Given the description of an element on the screen output the (x, y) to click on. 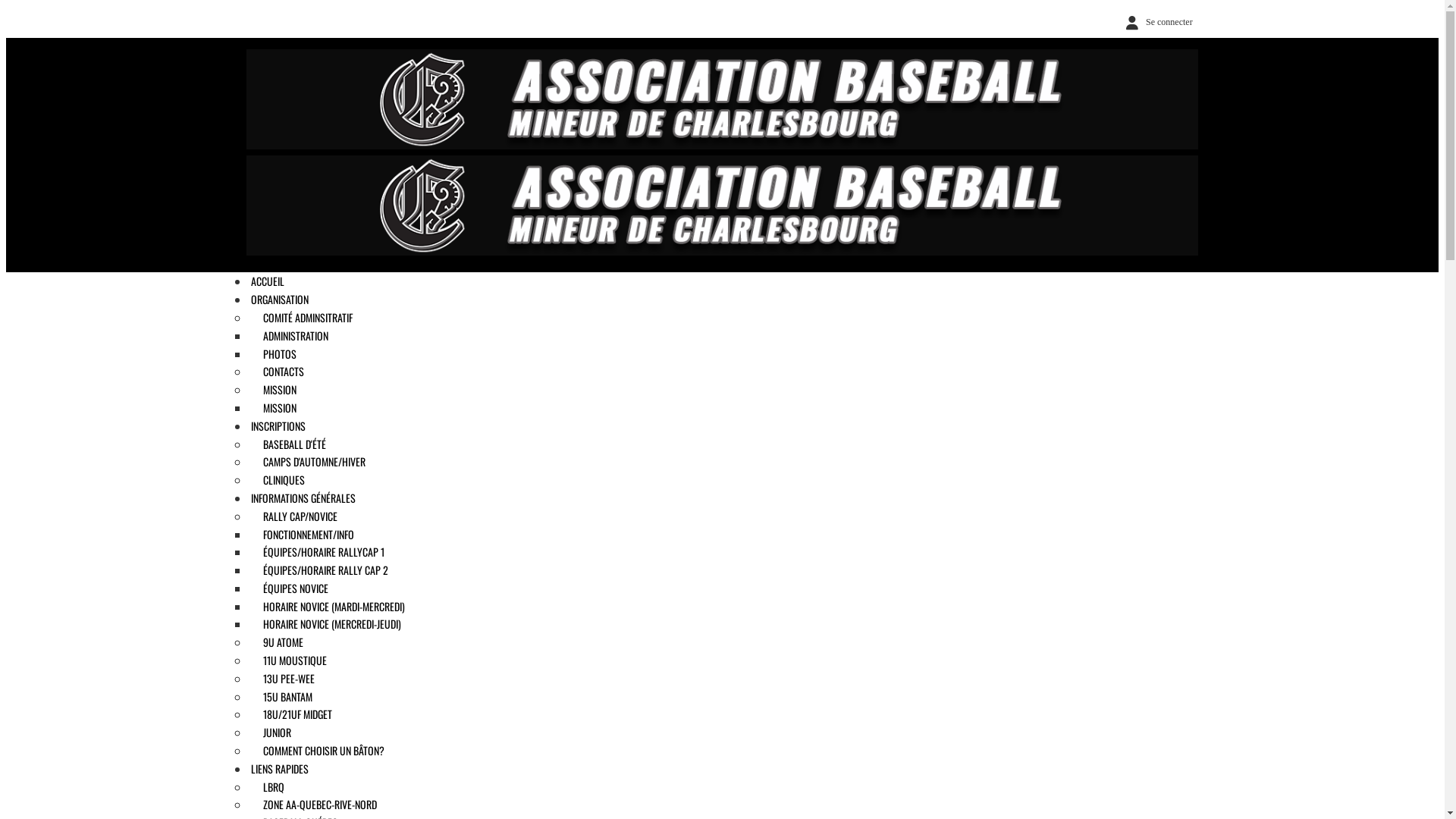
Se connecter Element type: text (1155, 21)
HORAIRE NOVICE (MARDI-MERCREDI) Element type: text (327, 606)
18U/21UF MIDGET Element type: text (291, 713)
11U MOUSTIQUE Element type: text (288, 660)
INSCRIPTIONS Element type: text (278, 425)
LBRQ Element type: text (267, 786)
13U PEE-WEE Element type: text (282, 678)
15U BANTAM Element type: text (281, 696)
HORAIRE NOVICE (MERCREDI-JEUDI) Element type: text (326, 623)
CLINIQUES Element type: text (277, 479)
RALLY CAP/NOVICE Element type: text (294, 516)
FONCTIONNEMENT/INFO Element type: text (302, 534)
9U ATOME Element type: text (277, 641)
PHOTOS Element type: text (273, 353)
JUNIOR Element type: text (271, 732)
MISSION Element type: text (273, 407)
CAMPS D'AUTOMNE/HIVER Element type: text (308, 461)
ORGANISATION Element type: text (279, 299)
ACCUEIL Element type: text (267, 280)
ADMINISTRATION Element type: text (289, 335)
ZONE AA-QUEBEC-RIVE-NORD Element type: text (313, 804)
MISSION Element type: text (273, 389)
CONTACTS Element type: text (277, 371)
LIENS RAPIDES Element type: text (279, 768)
